Given the description of an element on the screen output the (x, y) to click on. 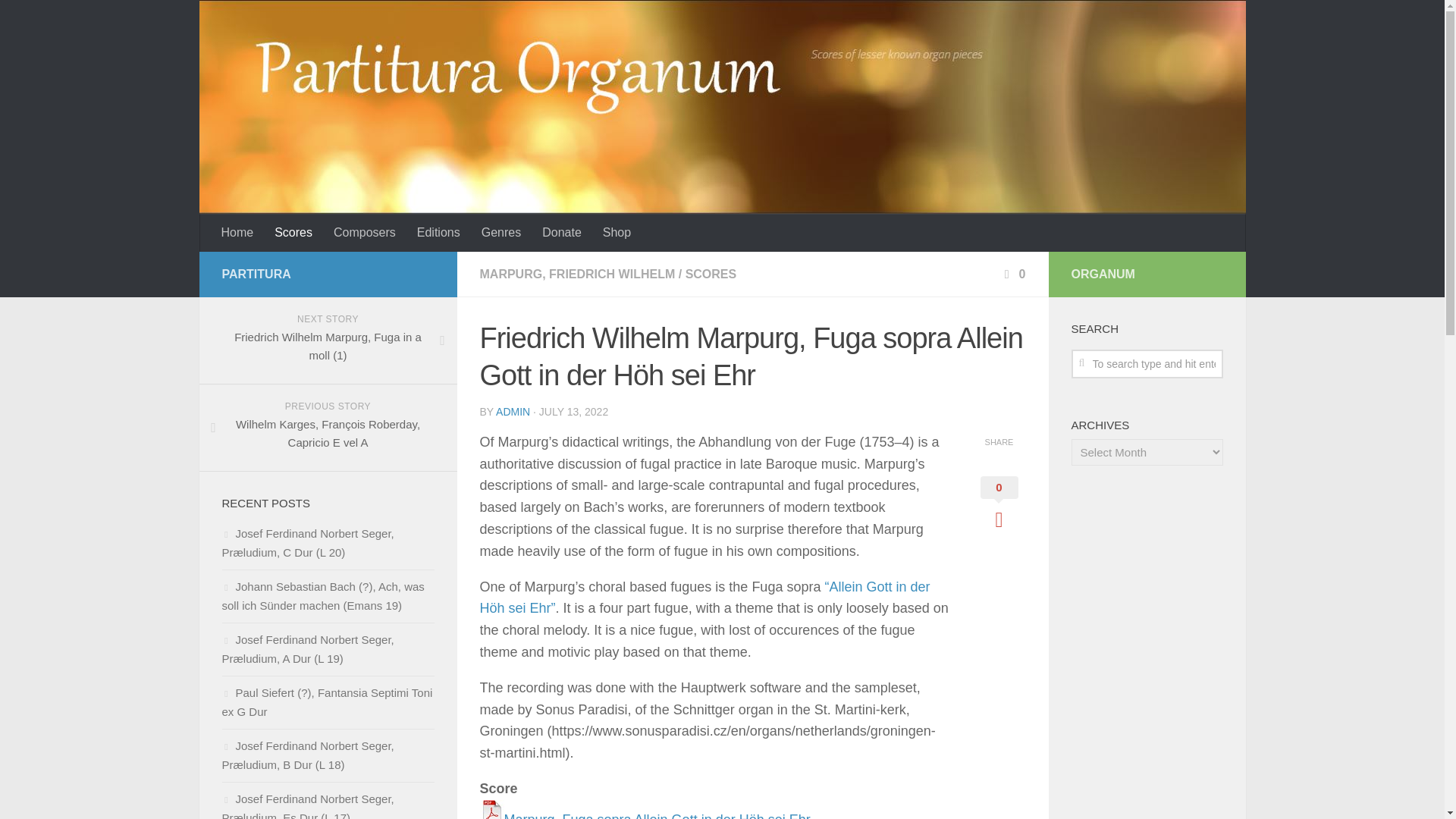
Posts by admin (512, 411)
Shop (617, 232)
MARPURG, FRIEDRICH WILHELM (577, 273)
0 (1013, 273)
SCORES (710, 273)
To search type and hit enter (1146, 363)
ADMIN (512, 411)
Scores (293, 232)
Genres (500, 232)
Genres (500, 232)
Editions (438, 232)
Home (237, 232)
Composers (364, 232)
Donate (561, 232)
To search type and hit enter (1146, 363)
